Given the description of an element on the screen output the (x, y) to click on. 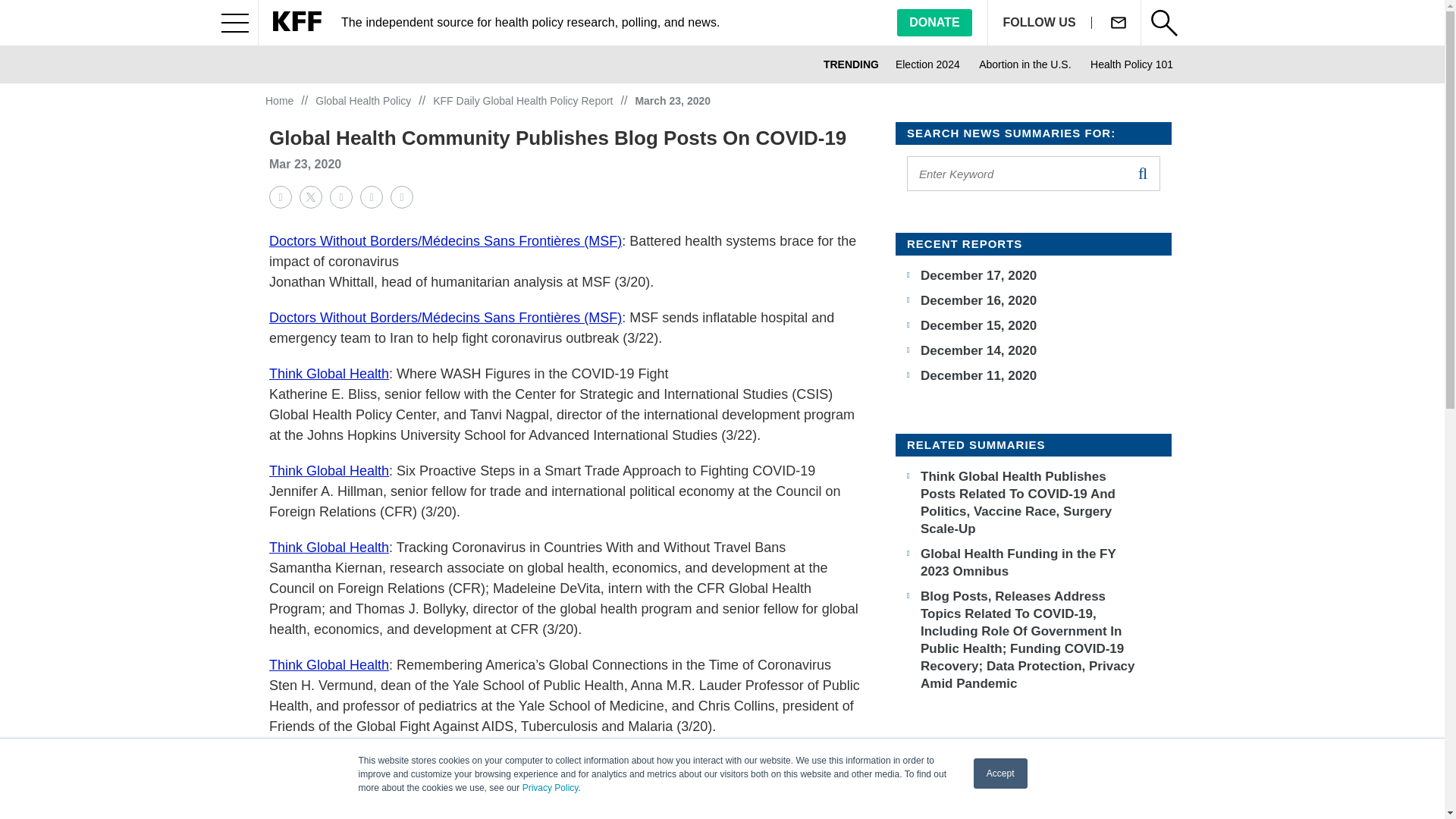
Privacy Policy (550, 787)
search (1141, 173)
Accept (1000, 773)
